Given the description of an element on the screen output the (x, y) to click on. 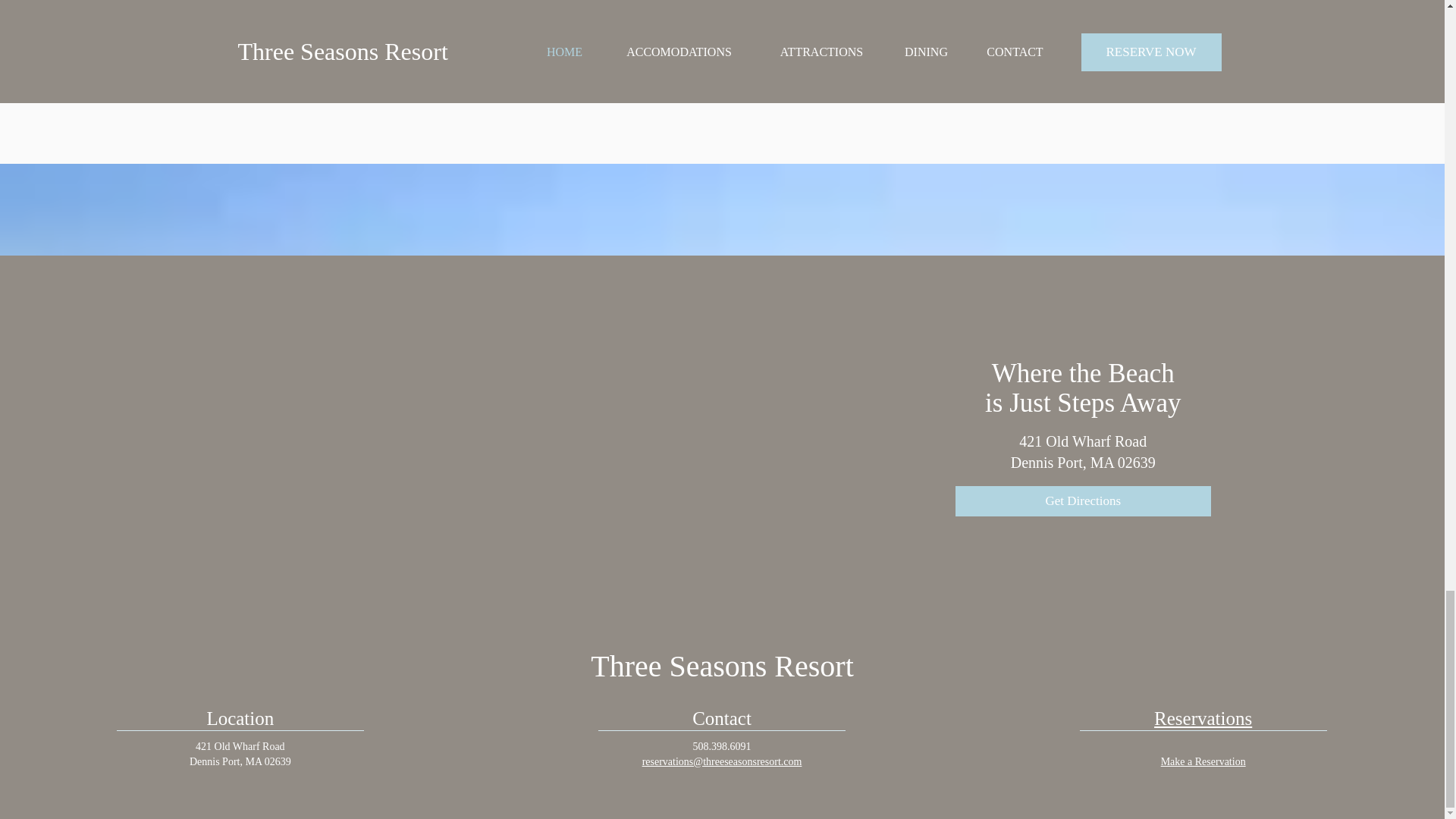
Get Directions (1083, 501)
Make a Reservation (1203, 761)
Reservations (1203, 718)
